Given the description of an element on the screen output the (x, y) to click on. 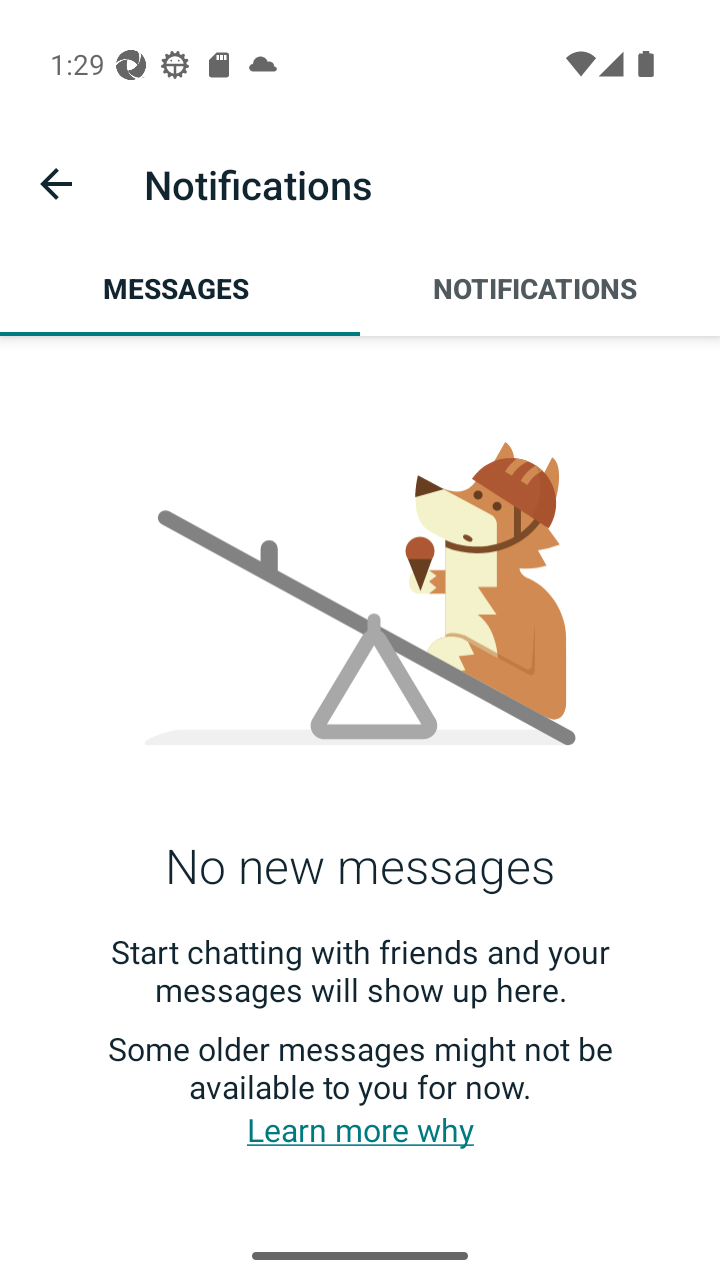
Notifications NOTIFICATIONS (540, 287)
